Given the description of an element on the screen output the (x, y) to click on. 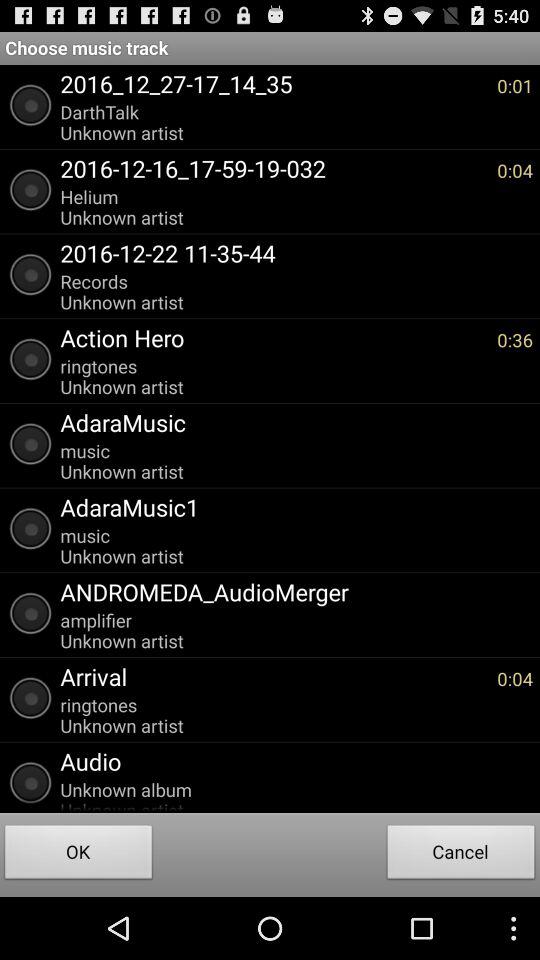
turn off the item above ringtones
unknown artist (273, 676)
